Given the description of an element on the screen output the (x, y) to click on. 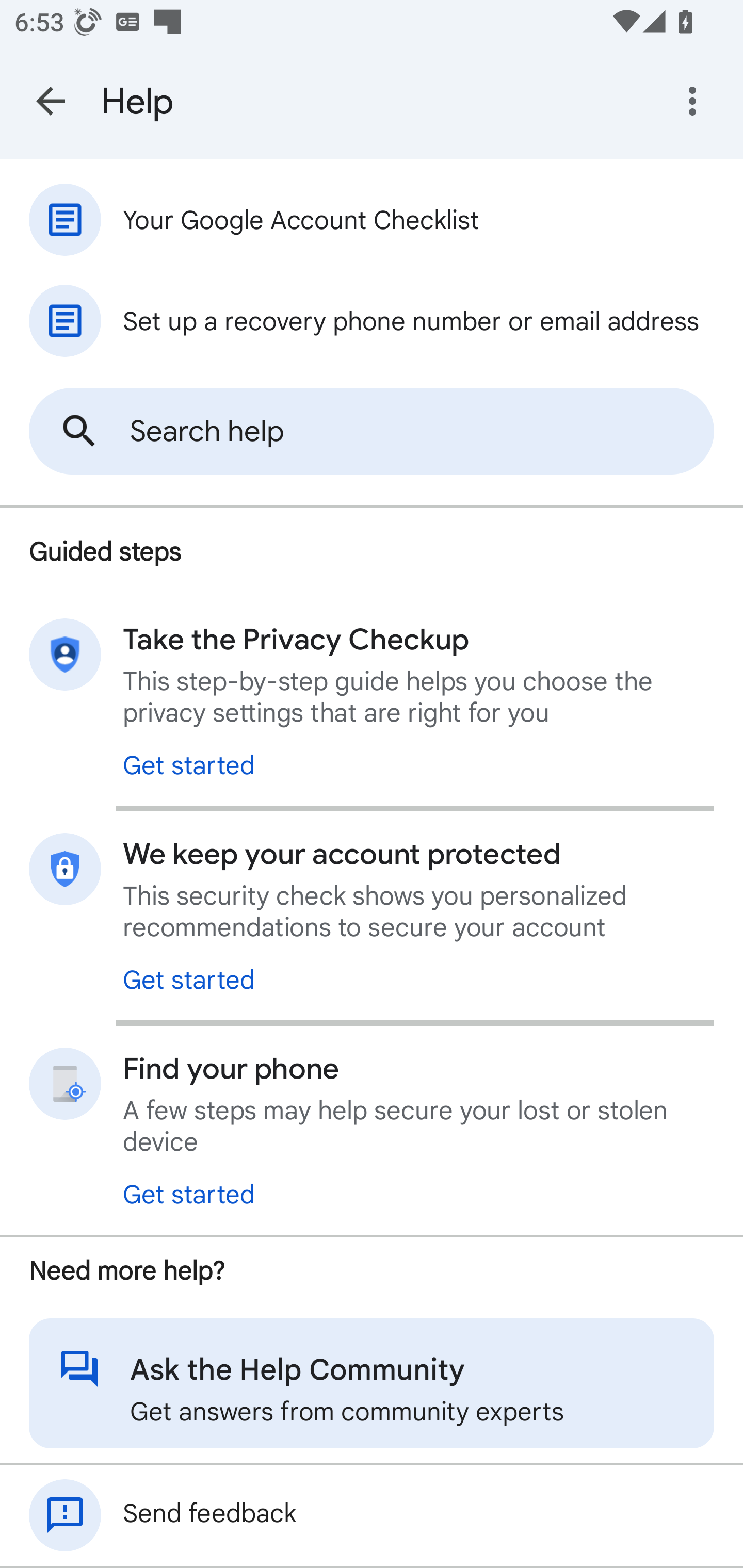
Navigate up (50, 101)
More options (696, 101)
Your Google Account Checklist (371, 219)
Set up a recovery phone number or email address (371, 320)
Search help (371, 431)
Send feedback (371, 1515)
